Given the description of an element on the screen output the (x, y) to click on. 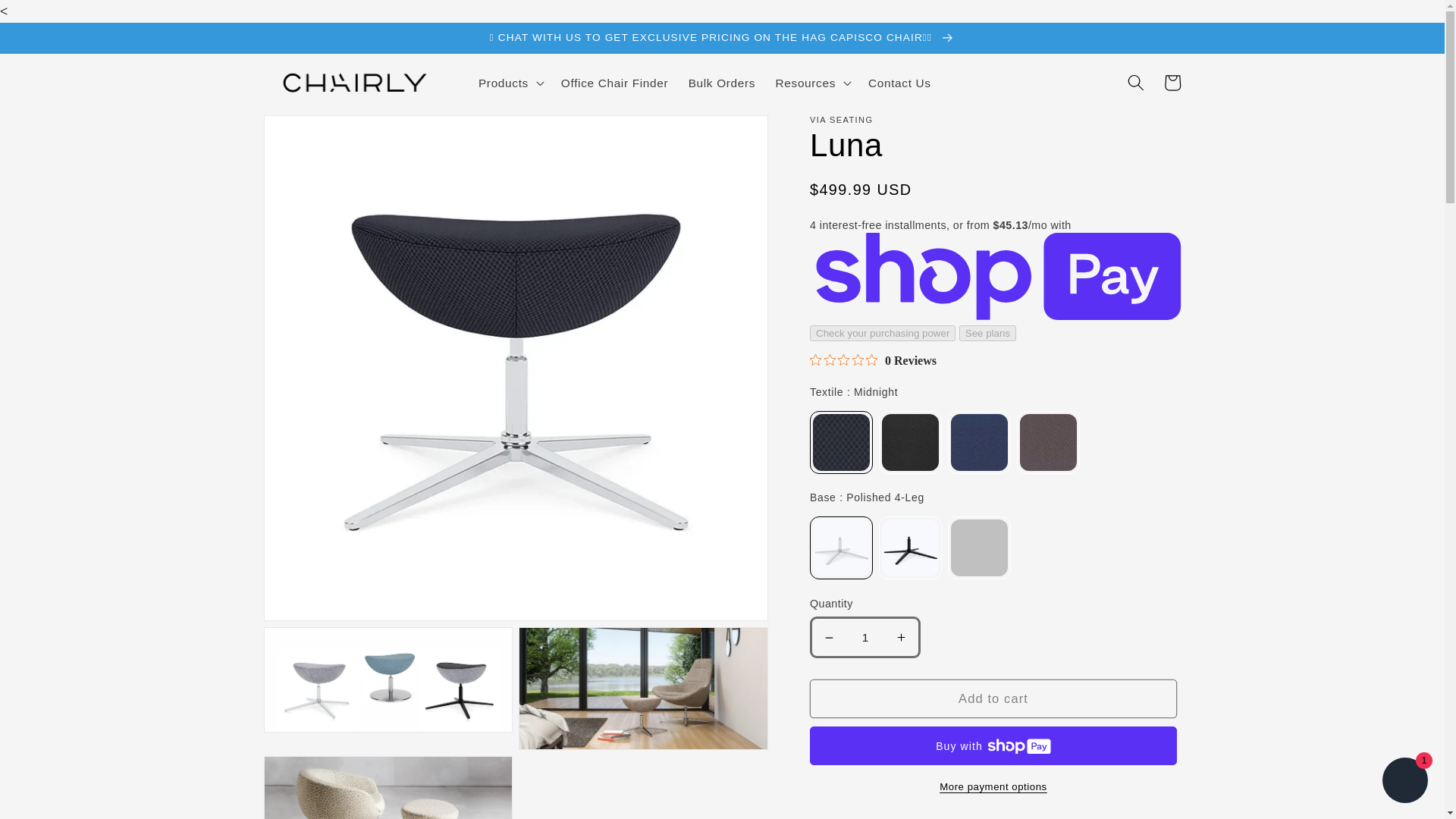
Shopify online store chat (1404, 781)
0 Reviews (872, 360)
1 (864, 637)
Skip to content (50, 19)
